Given the description of an element on the screen output the (x, y) to click on. 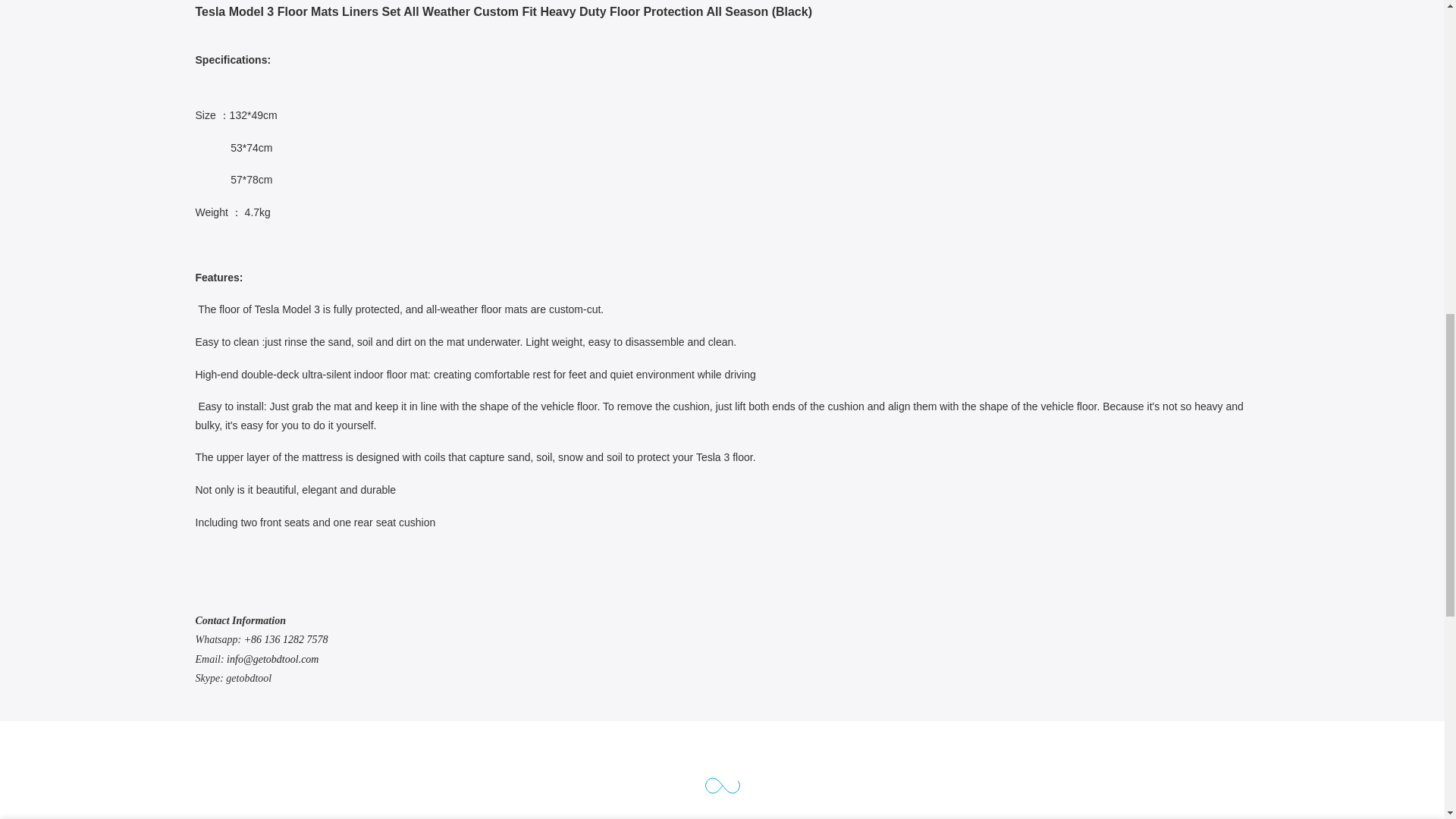
1 (1085, 35)
